Given the description of an element on the screen output the (x, y) to click on. 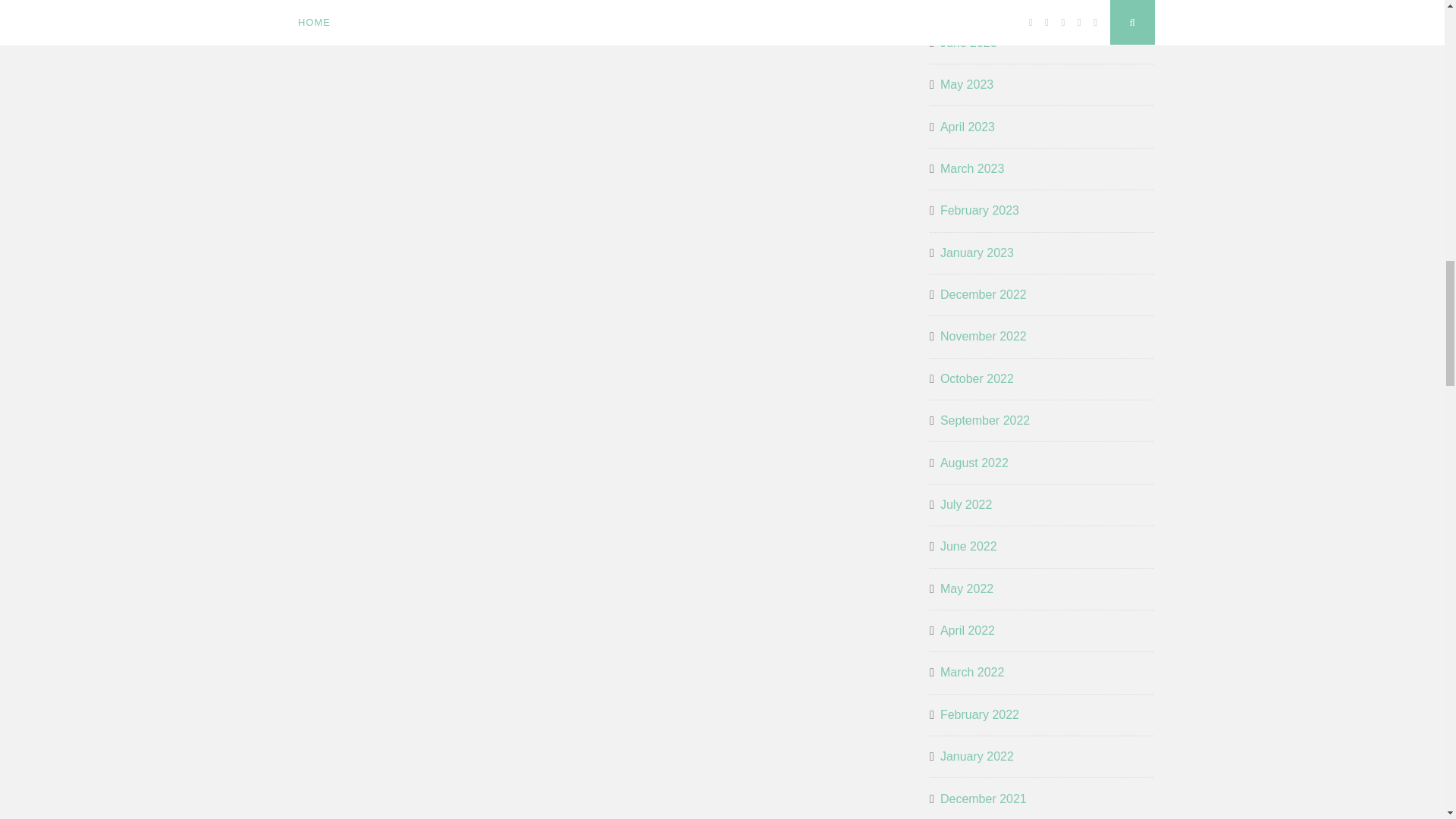
April 2023 (967, 127)
July 2023 (966, 6)
May 2023 (966, 84)
June 2023 (968, 43)
